Given the description of an element on the screen output the (x, y) to click on. 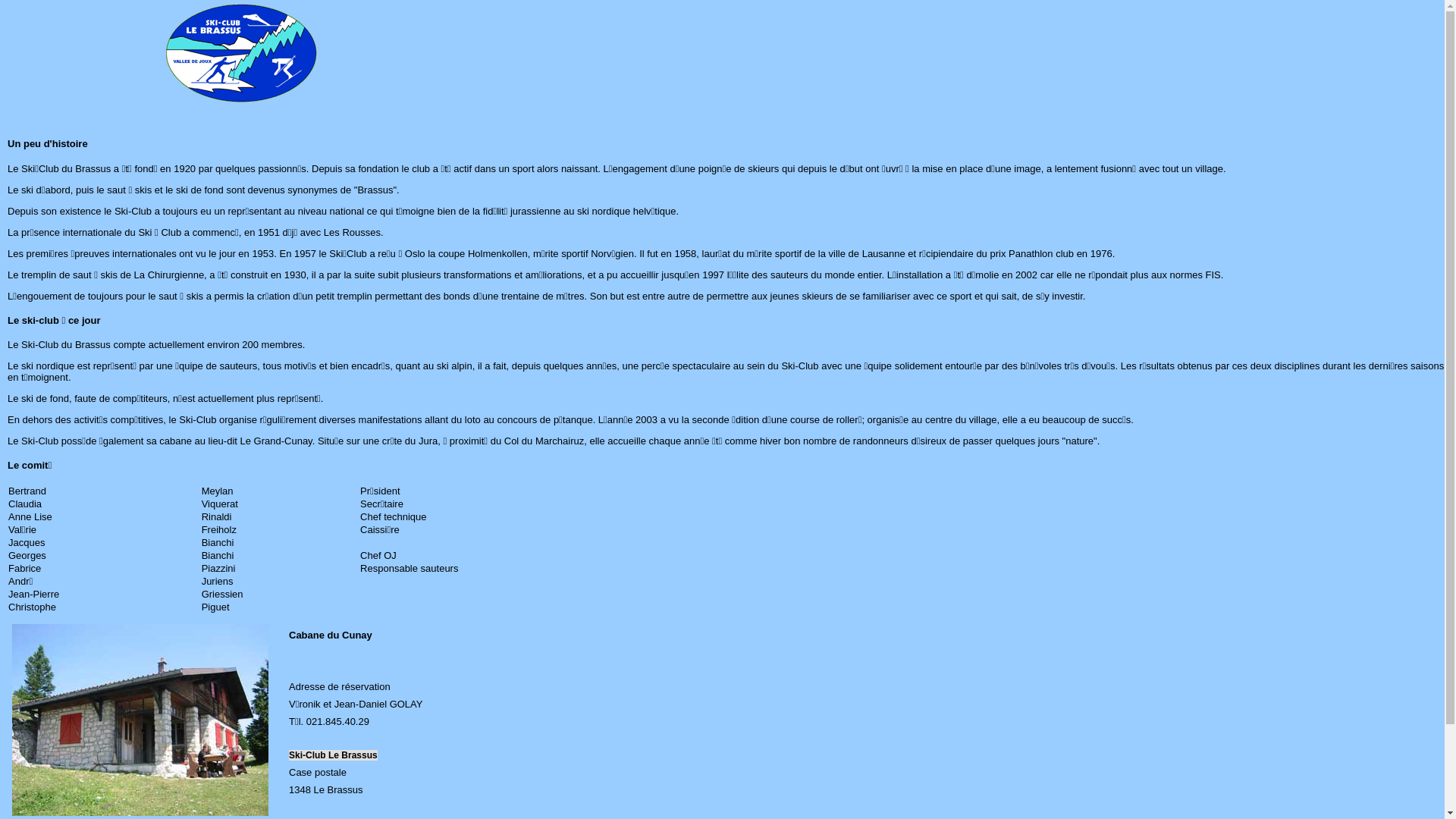
Ski-Club Le Brassus Element type: text (332, 754)
